Given the description of an element on the screen output the (x, y) to click on. 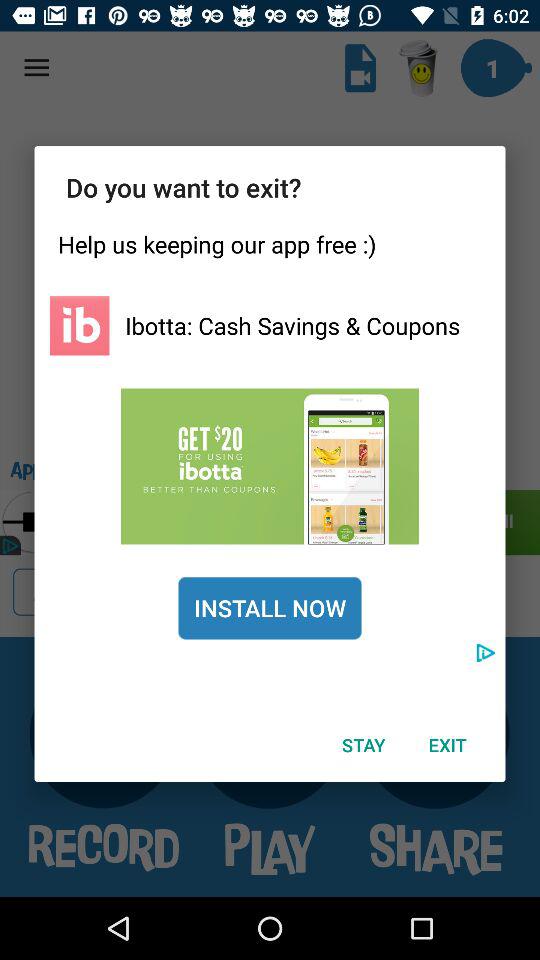
tap icon to the left of exit (363, 744)
